Given the description of an element on the screen output the (x, y) to click on. 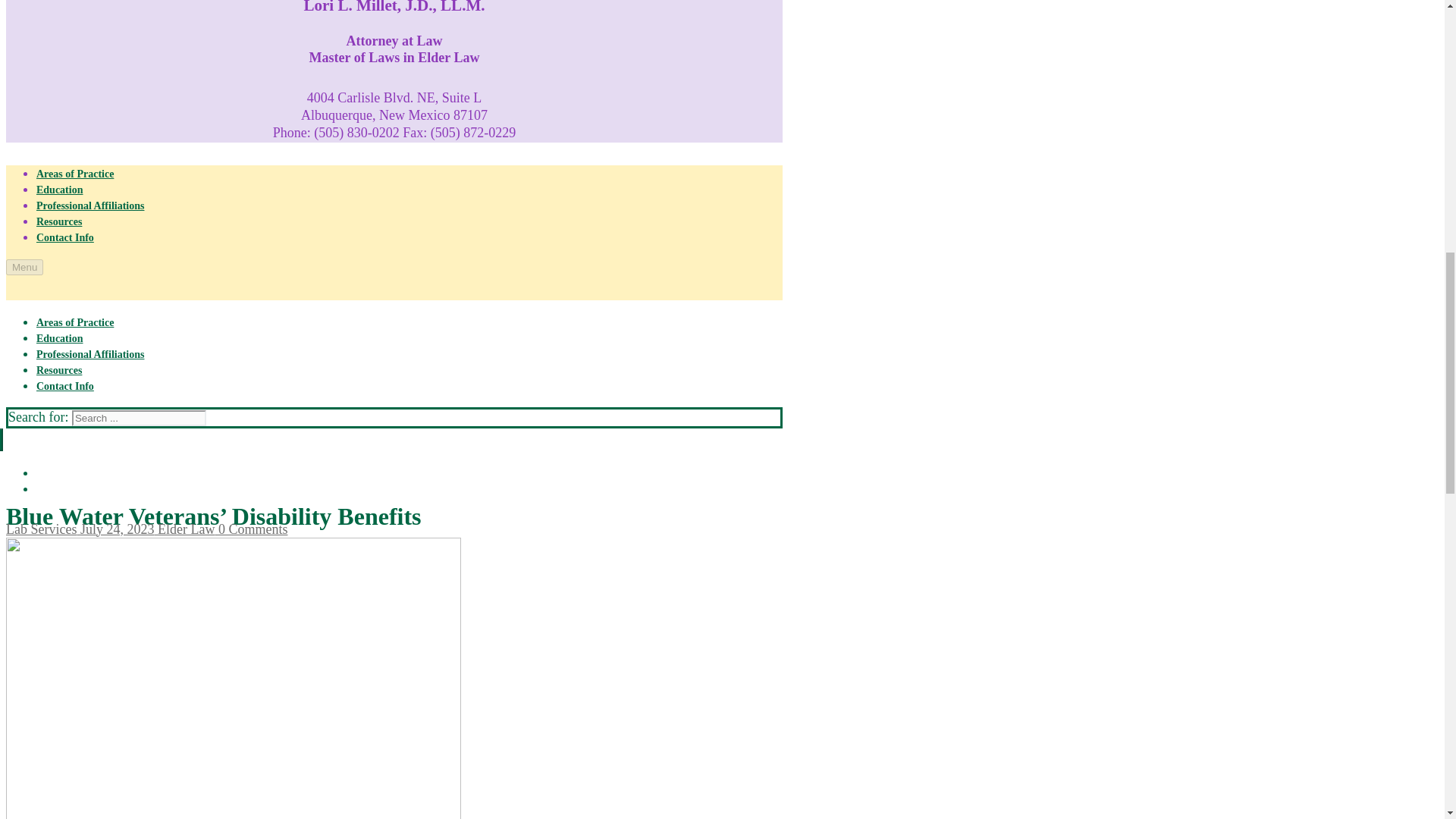
Education (59, 189)
0 Comments (250, 529)
Contact Info (65, 386)
Professional Affiliations (90, 205)
Contact Info (65, 237)
Education (59, 337)
Menu (24, 267)
Search for: (138, 417)
Lab Services (41, 529)
Resources (58, 221)
July 24, 2023 (115, 529)
Areas of Practice (74, 173)
Areas of Practice (74, 322)
Elder Law (184, 529)
Professional Affiliations (90, 354)
